Given the description of an element on the screen output the (x, y) to click on. 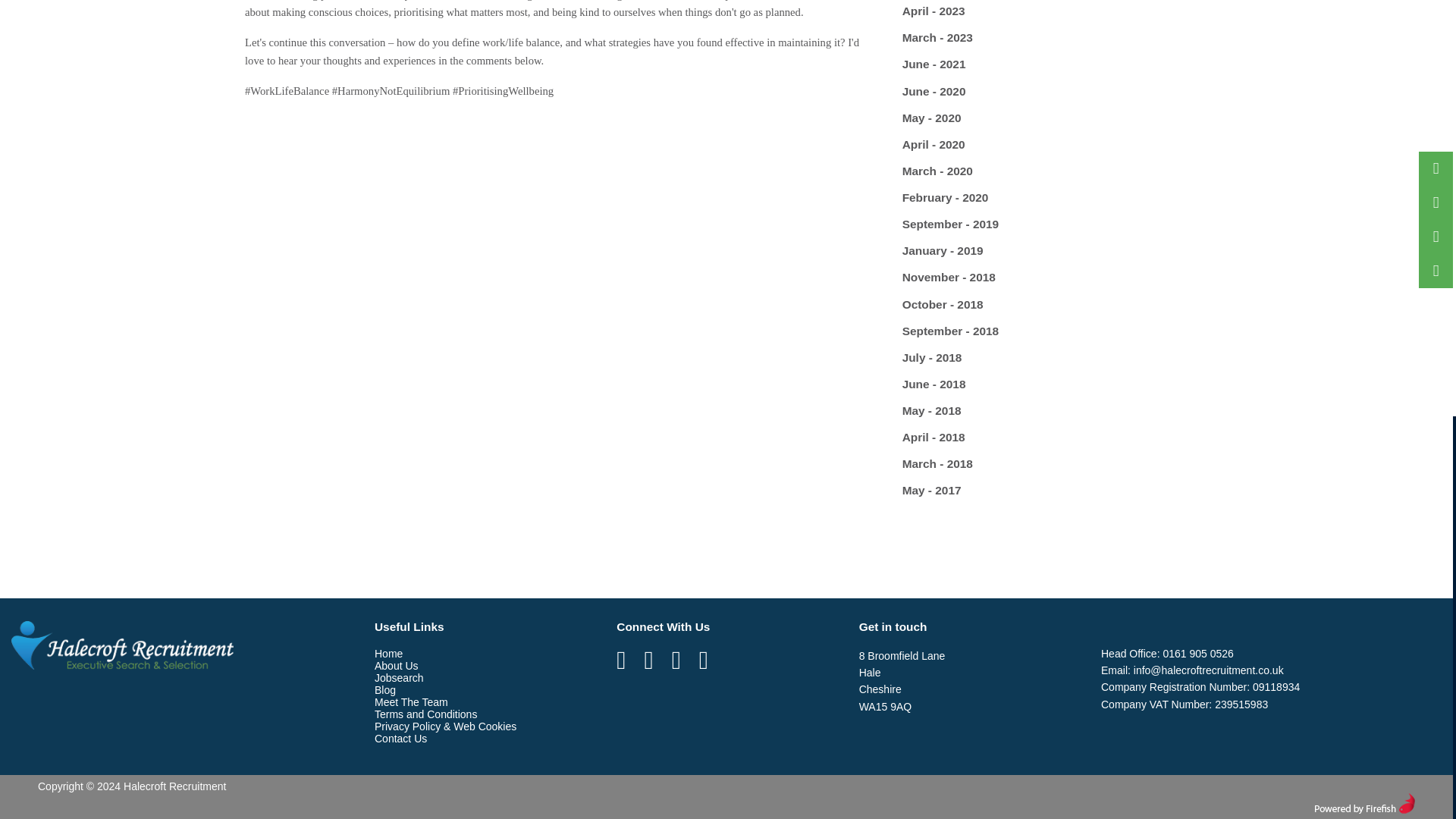
Recruitment Software - Firefish Software (1364, 801)
